Given the description of an element on the screen output the (x, y) to click on. 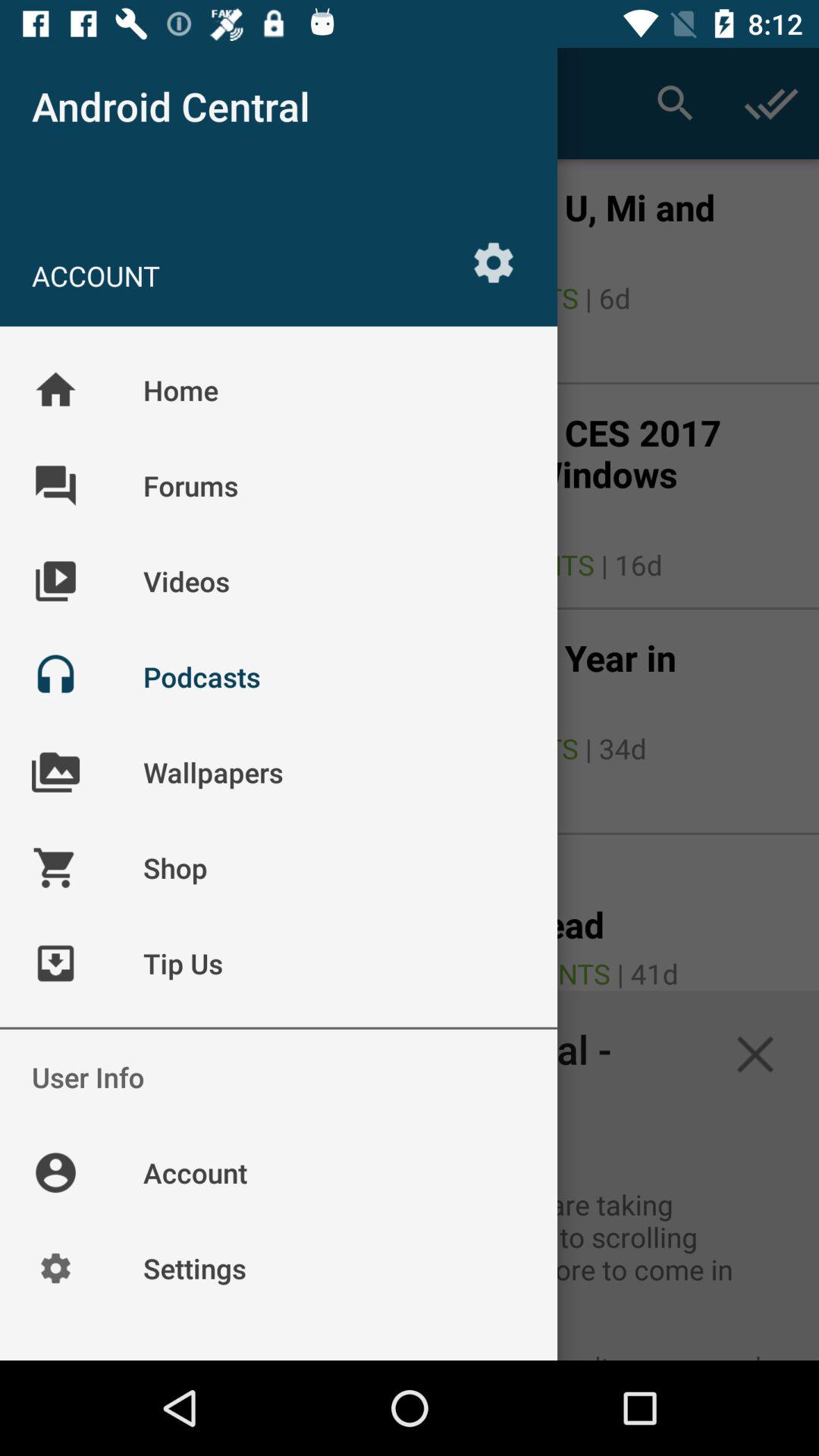
click the setting icon (493, 263)
